Given the description of an element on the screen output the (x, y) to click on. 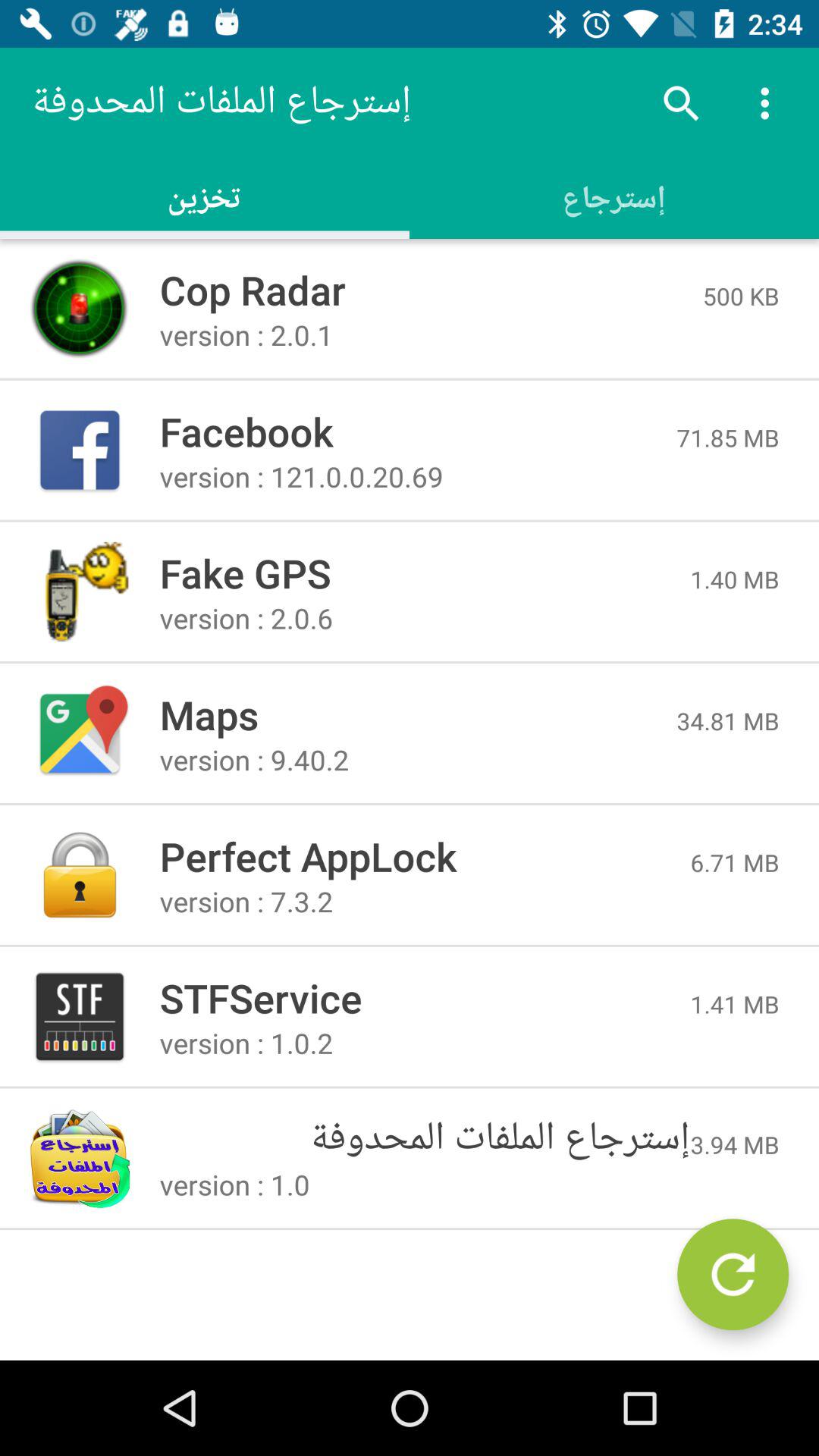
turn on icon to the left of the 1.41 mb item (424, 997)
